Given the description of an element on the screen output the (x, y) to click on. 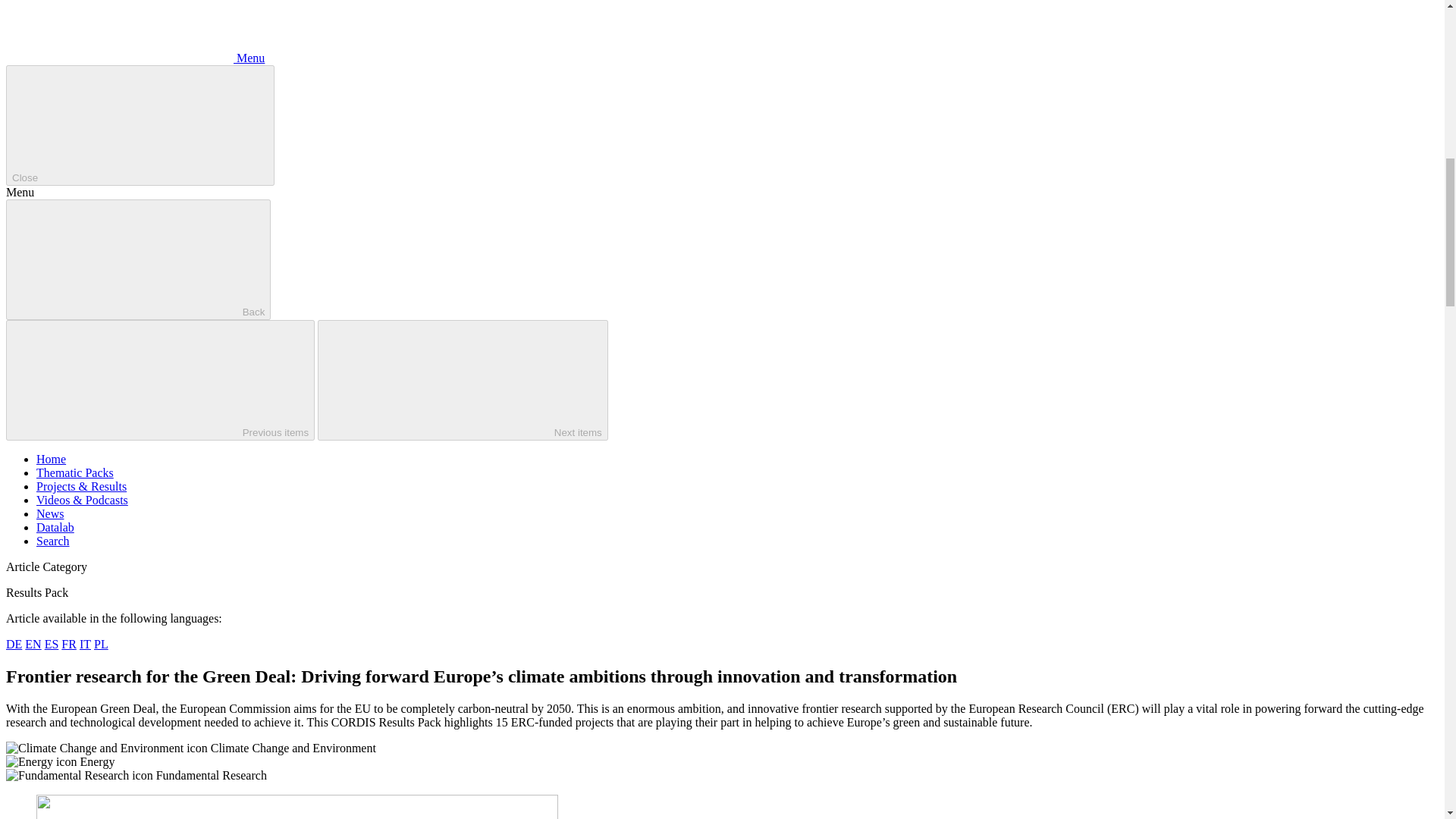
FR (69, 644)
Next items (462, 380)
DE (13, 644)
Previous items (159, 380)
Home (50, 459)
Back (137, 259)
Datalab (55, 526)
ES (52, 644)
Search (52, 540)
Close (140, 125)
Thematic Packs (74, 472)
News (50, 513)
PL (100, 644)
Menu (134, 57)
EN (32, 644)
